Given the description of an element on the screen output the (x, y) to click on. 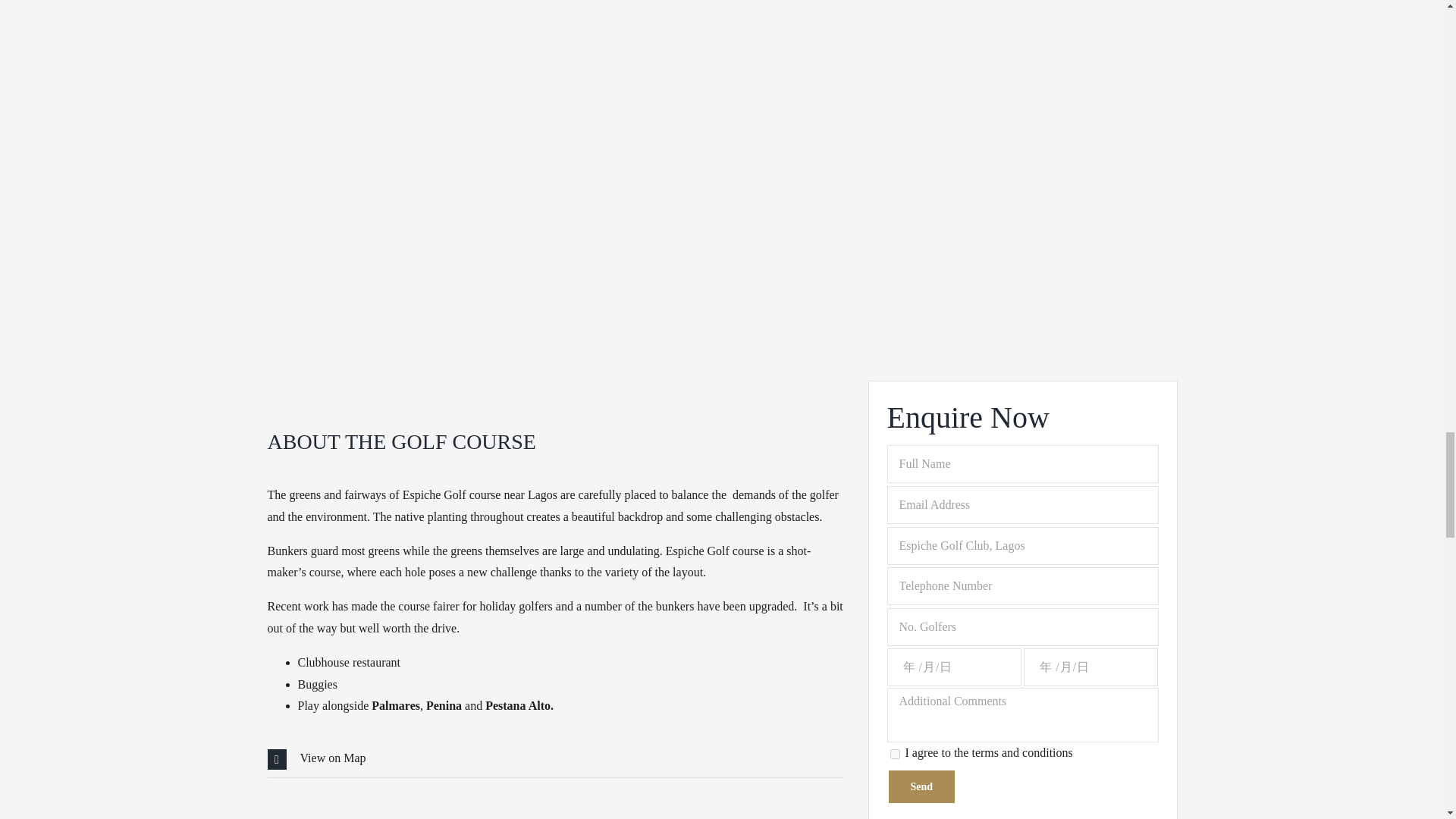
Espiche Golf Club, Lagos (1022, 546)
Send (921, 786)
1 (894, 754)
